Given the description of an element on the screen output the (x, y) to click on. 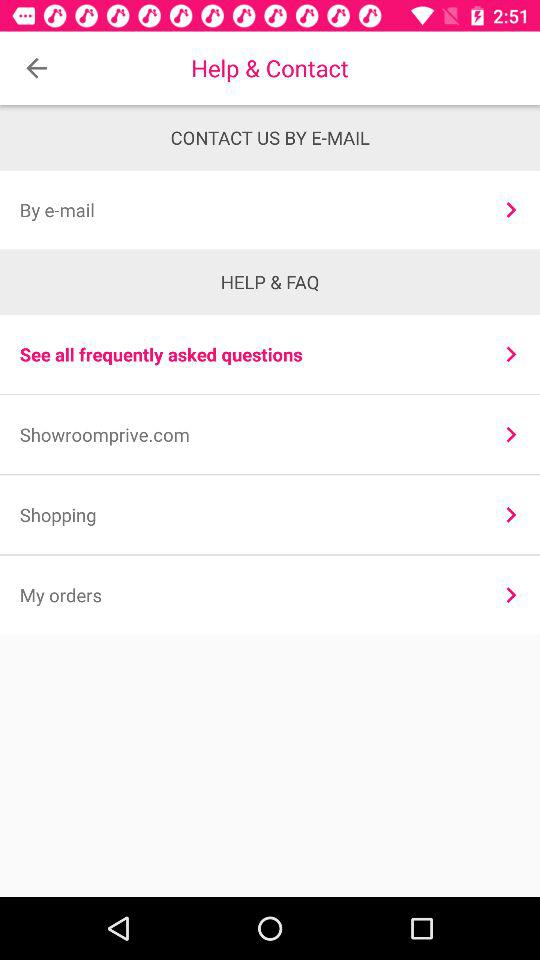
click the icon to the right of my orders (510, 594)
